Given the description of an element on the screen output the (x, y) to click on. 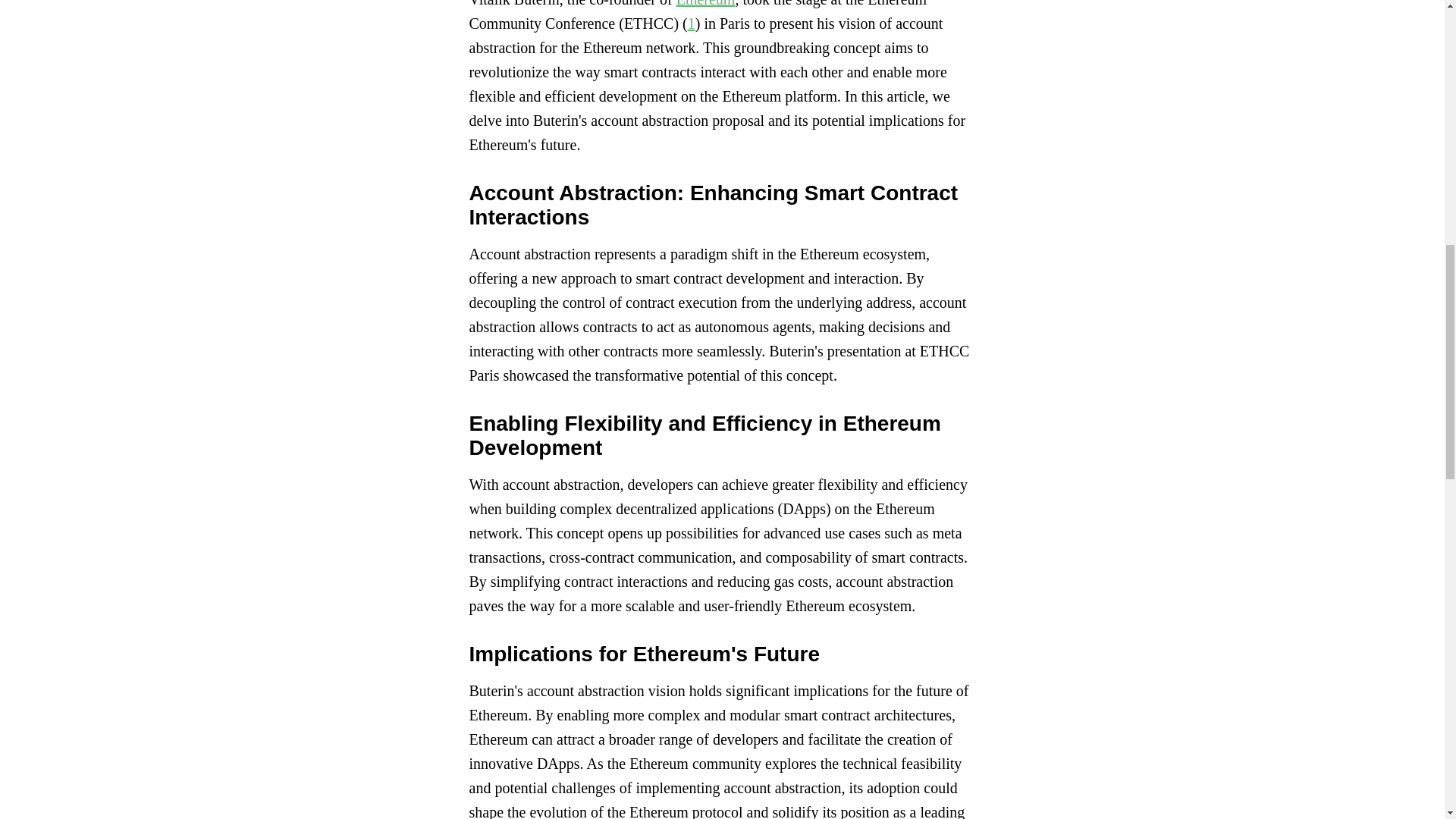
Ethereum (706, 3)
